Given the description of an element on the screen output the (x, y) to click on. 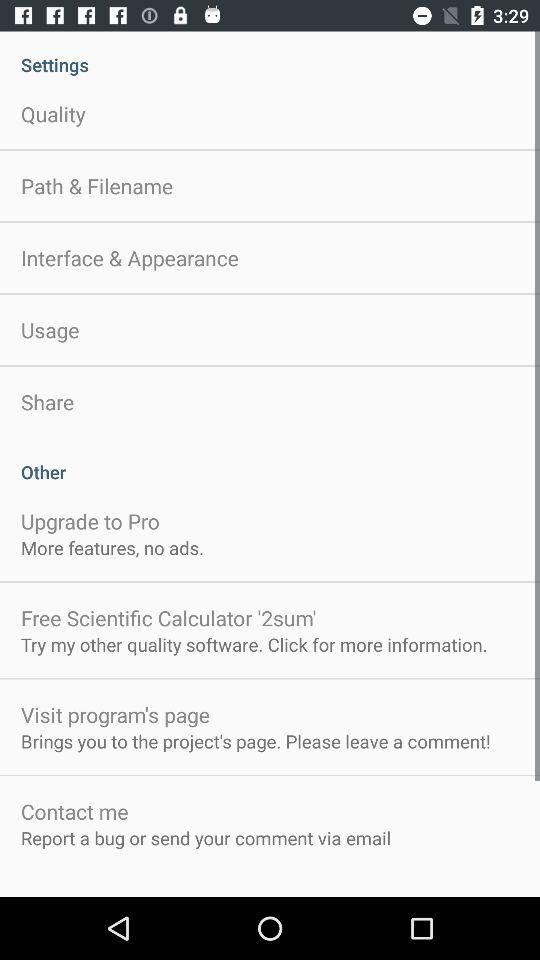
swipe until the report a bug app (206, 837)
